Given the description of an element on the screen output the (x, y) to click on. 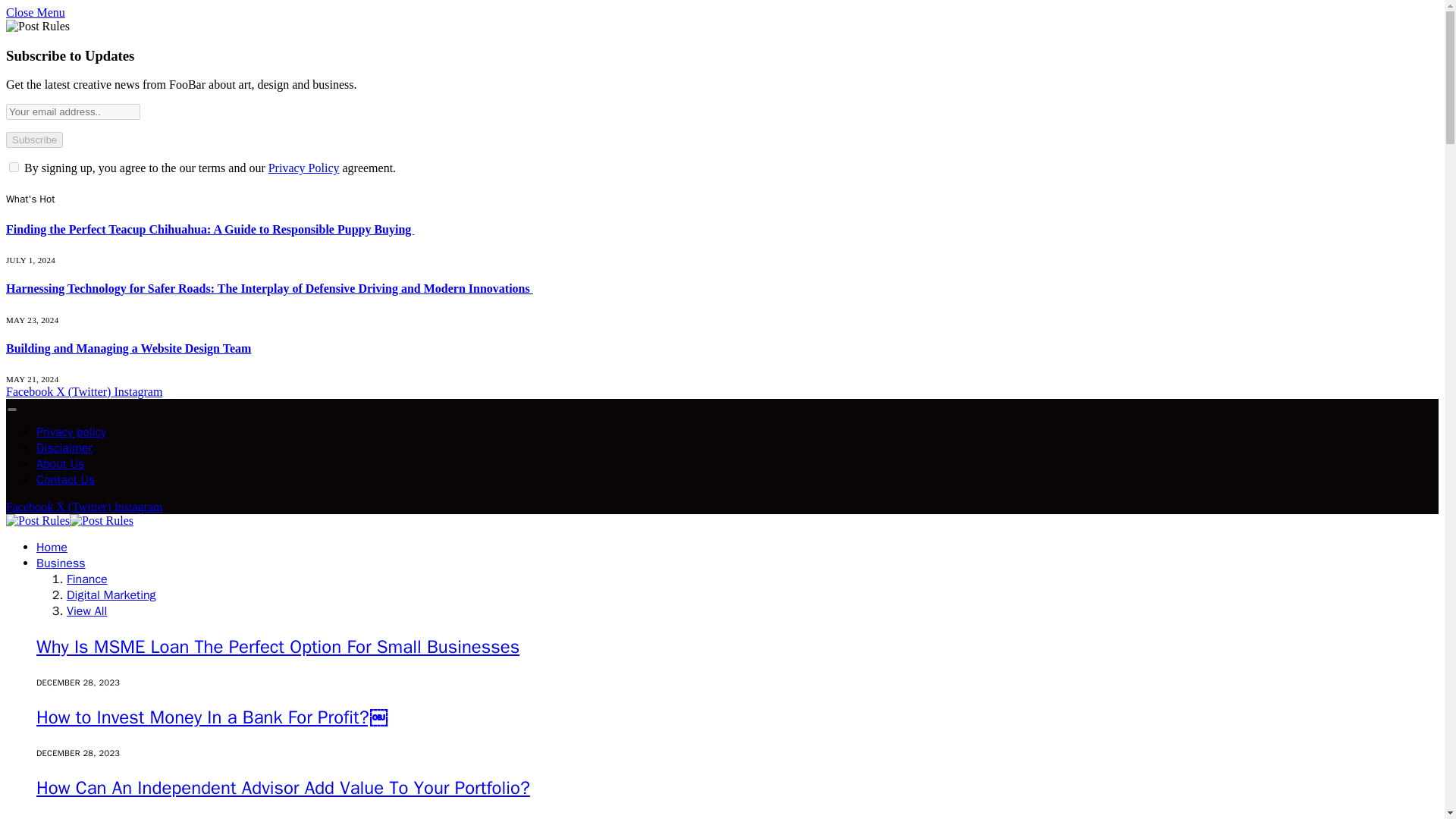
Home (51, 547)
Facebook (30, 506)
Facebook (30, 391)
Privacy Policy (303, 167)
About Us (60, 463)
Finance (86, 579)
Instagram (137, 391)
Close Menu (35, 11)
Disclaimer (63, 447)
Instagram (137, 506)
Post Rules (69, 520)
Subscribe (33, 139)
Business (60, 563)
